Given the description of an element on the screen output the (x, y) to click on. 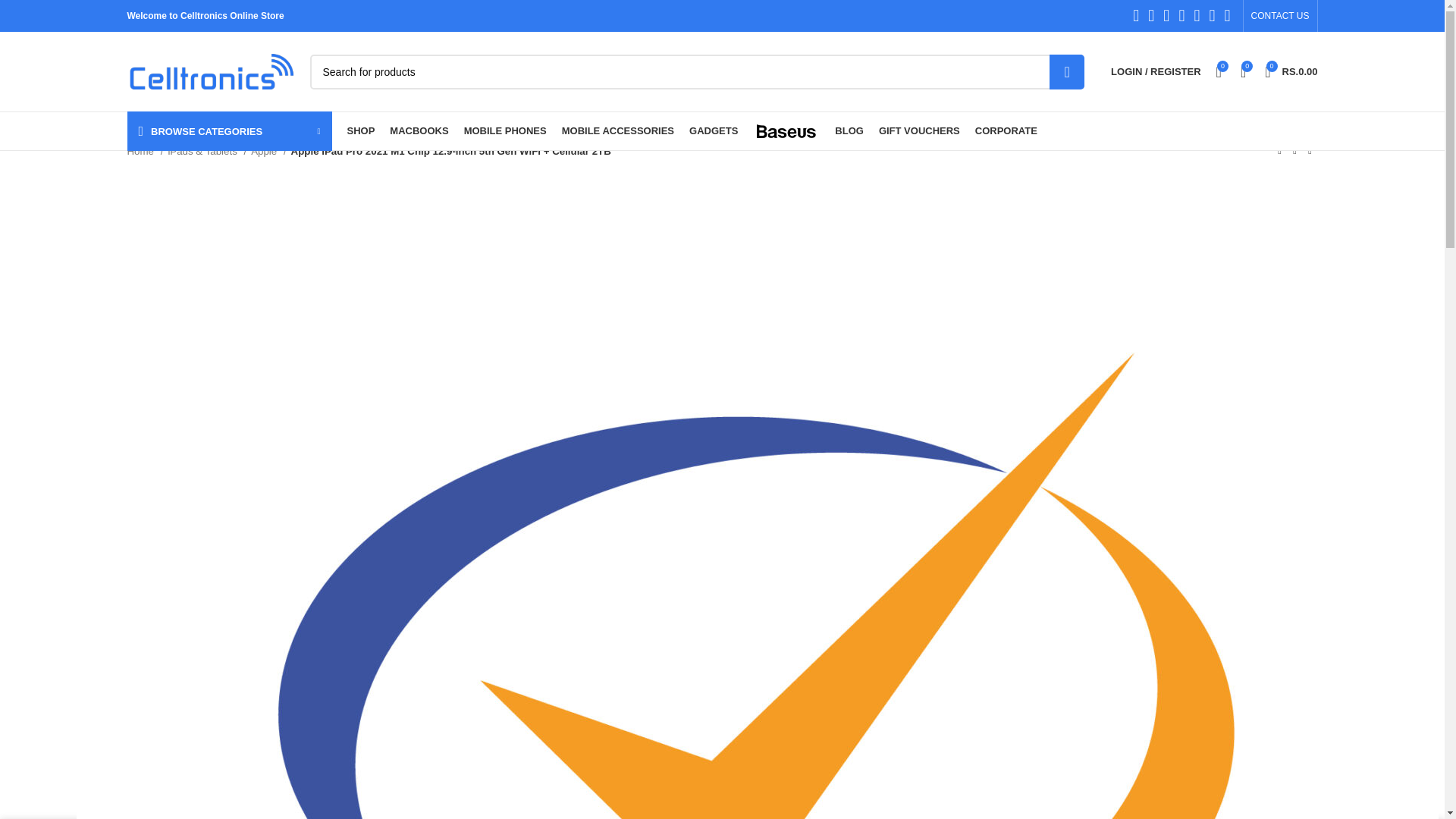
Shopping cart (1290, 71)
Search for products (1290, 71)
CONTACT US (696, 71)
My account (1279, 15)
SEARCH (1155, 71)
